Given the description of an element on the screen output the (x, y) to click on. 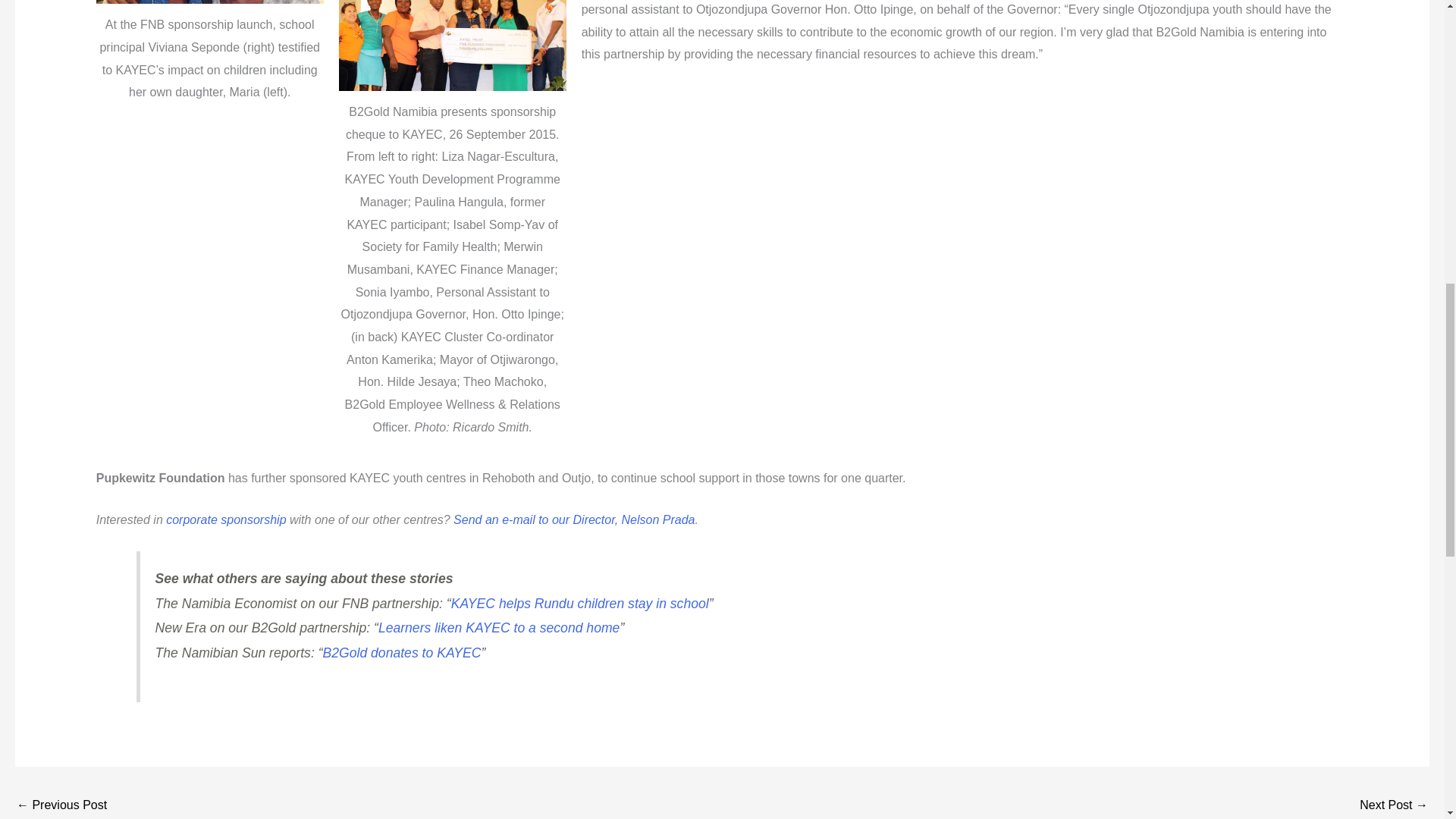
B2Gold donates to KAYEC (402, 652)
Automotive training puts J.N.'s career in gear (1393, 805)
KAYEC helps Rundu children stay in school (580, 603)
KAYEC gets NQA accreditation (61, 805)
Learners liken KAYEC to a second home (499, 627)
Send an e-mail to our Director, Nelson Prada (573, 519)
corporate sponsorship (225, 519)
